Given the description of an element on the screen output the (x, y) to click on. 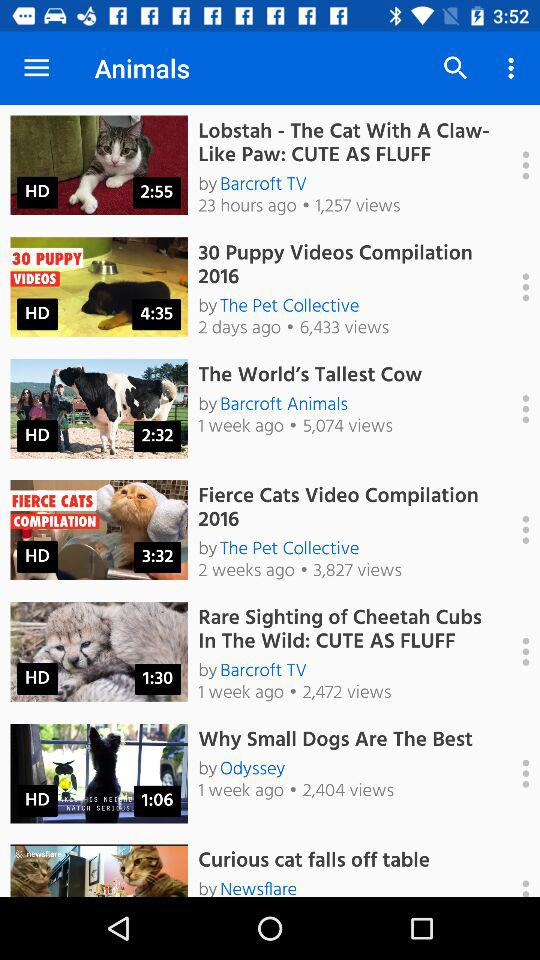
open menu (515, 651)
